Given the description of an element on the screen output the (x, y) to click on. 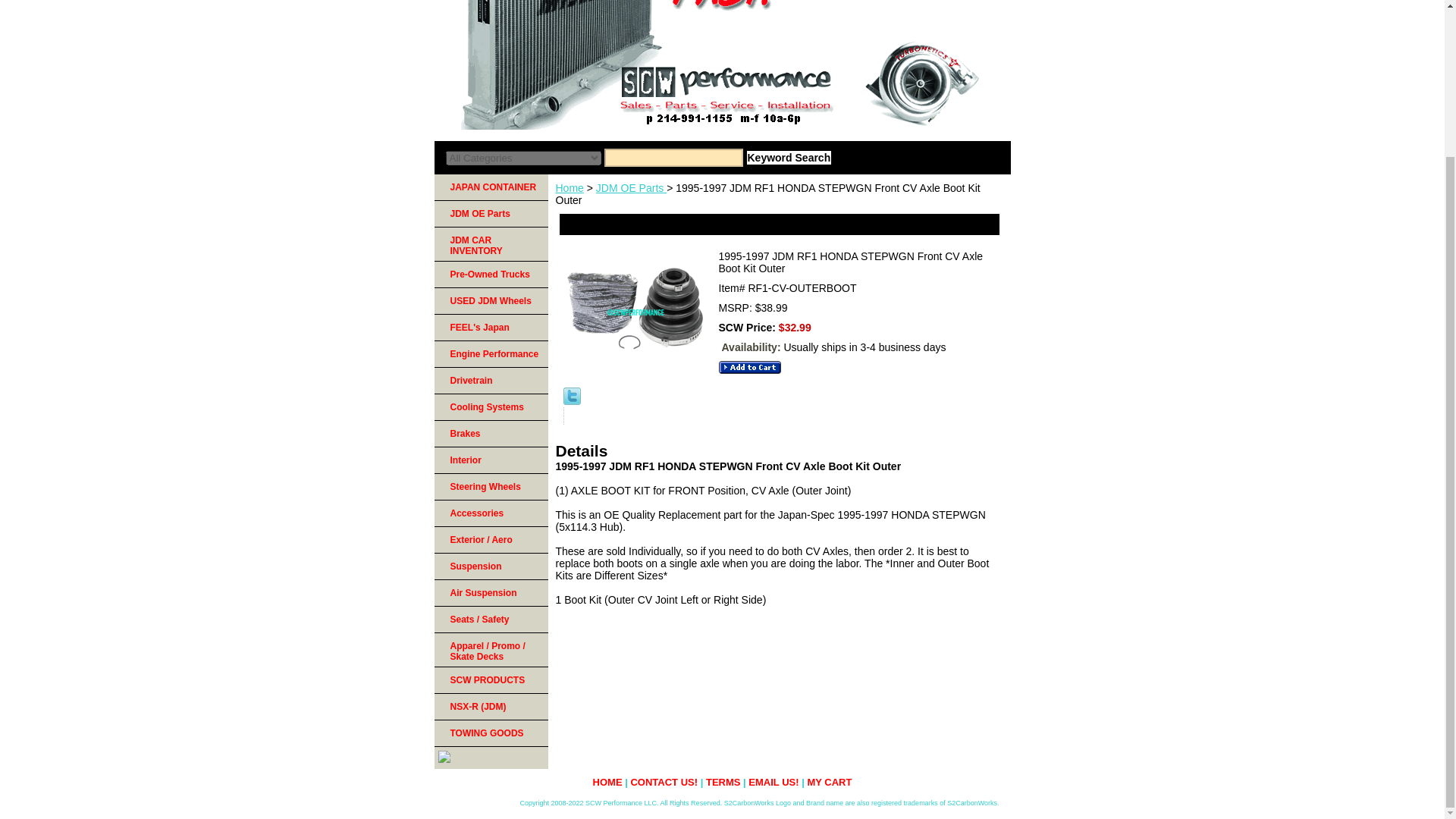
Cooling Systems (490, 406)
Brakes (490, 433)
Air Suspension (490, 592)
JAPAN CONTAINER (490, 187)
Order (749, 367)
USED JDM Wheels (490, 301)
1995-1997 JDM RF1 HONDA STEPWGN Front CV Axle Boot Kit Outer (634, 315)
Tweet (570, 400)
FEEL's Japan (490, 327)
Interior (490, 460)
Suspension (490, 566)
EMAIL US! (772, 781)
Steering Wheels (490, 487)
TERMS (723, 781)
Accessories (490, 513)
